Given the description of an element on the screen output the (x, y) to click on. 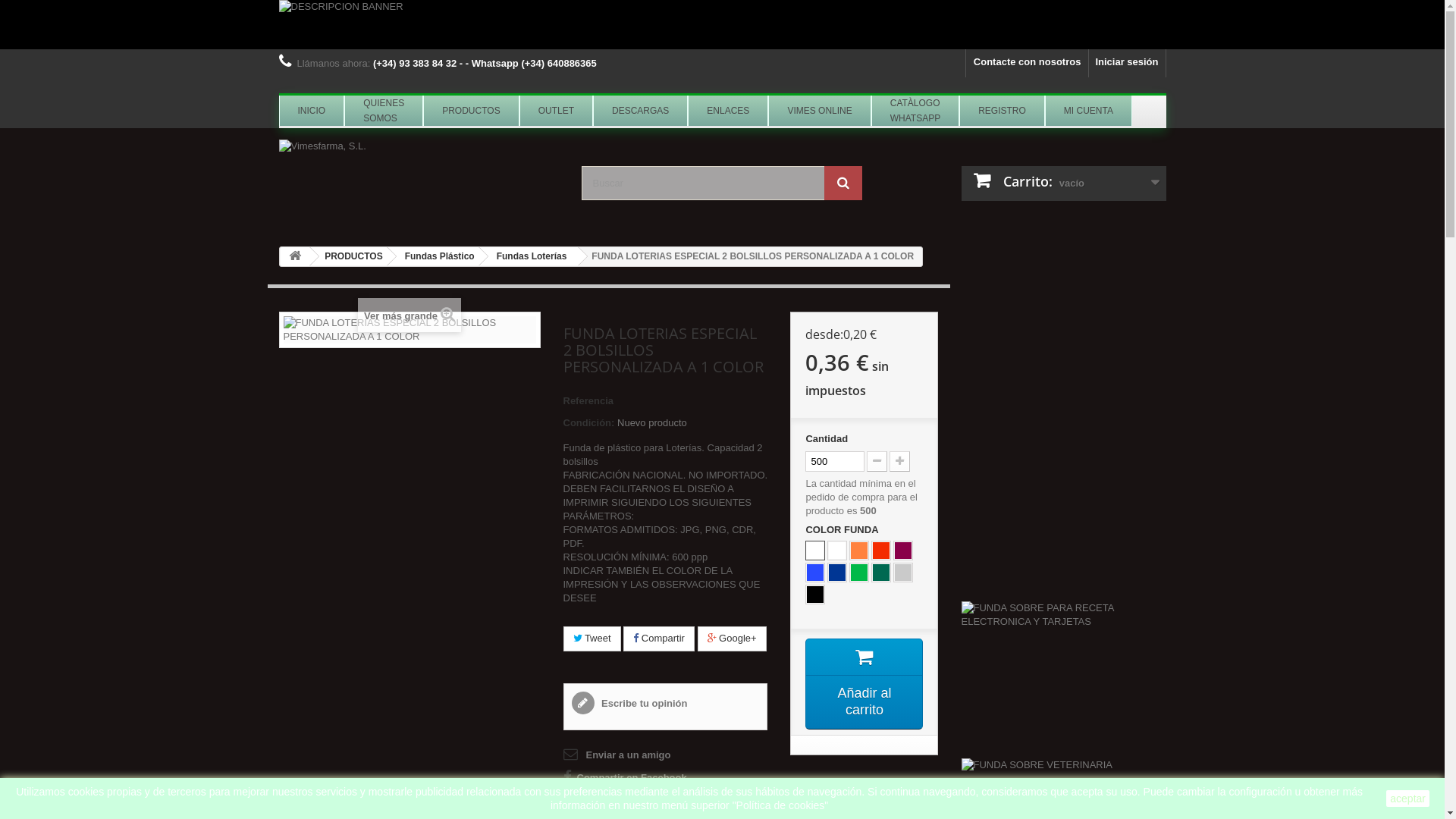
VERDE Element type: hover (858, 572)
Imprimir Element type: text (593, 800)
INICIO Element type: text (312, 110)
Volver a Inicio Element type: hover (294, 256)
Vimesfarma, S.L. Element type: hover (419, 181)
ROJO Element type: hover (880, 550)
GRIS PLATA Element type: hover (902, 572)
BLANCO Element type: hover (836, 550)
PRODUCTOS Element type: text (350, 256)
DESCRIPCION BANNER Element type: hover (722, 24)
FUNDA SOBRE PARA RECETA ELECTRONICA Y TARJETAS Element type: hover (1063, 679)
Tweet Element type: text (591, 638)
GRANATE Element type: hover (902, 550)
Contacte con nosotros Element type: text (1027, 63)
OUTLET Element type: text (556, 110)
MI CUENTA Element type: text (1088, 110)
DESCARGAS Element type: text (640, 110)
VIMES ONLINE Element type: text (819, 110)
FUNDA LOTERIAS ESPECIAL 2 BOLSILLOS PERSONALIZADA A 1 COLOR Element type: hover (409, 329)
Whatsapp Chat Element type: text (1366, 803)
Compartir Element type: text (658, 638)
ENLACES Element type: text (727, 110)
QUIENES
SOMOS Element type: text (383, 110)
REGISTRO Element type: text (1001, 110)
NEGRO Element type: hover (814, 594)
PRODUCTOS Element type: text (470, 110)
TRANSPARENTE Element type: hover (814, 550)
VERDE OSCURO Element type: hover (880, 572)
Enviar a un amigo Element type: text (616, 754)
Compartir en Facebook Element type: text (624, 777)
AZUL OSCURO Element type: hover (836, 572)
AZUL Element type: hover (814, 572)
aceptar Element type: text (1407, 798)
NARANJA Element type: hover (858, 550)
Google+ Element type: text (731, 638)
